Given the description of an element on the screen output the (x, y) to click on. 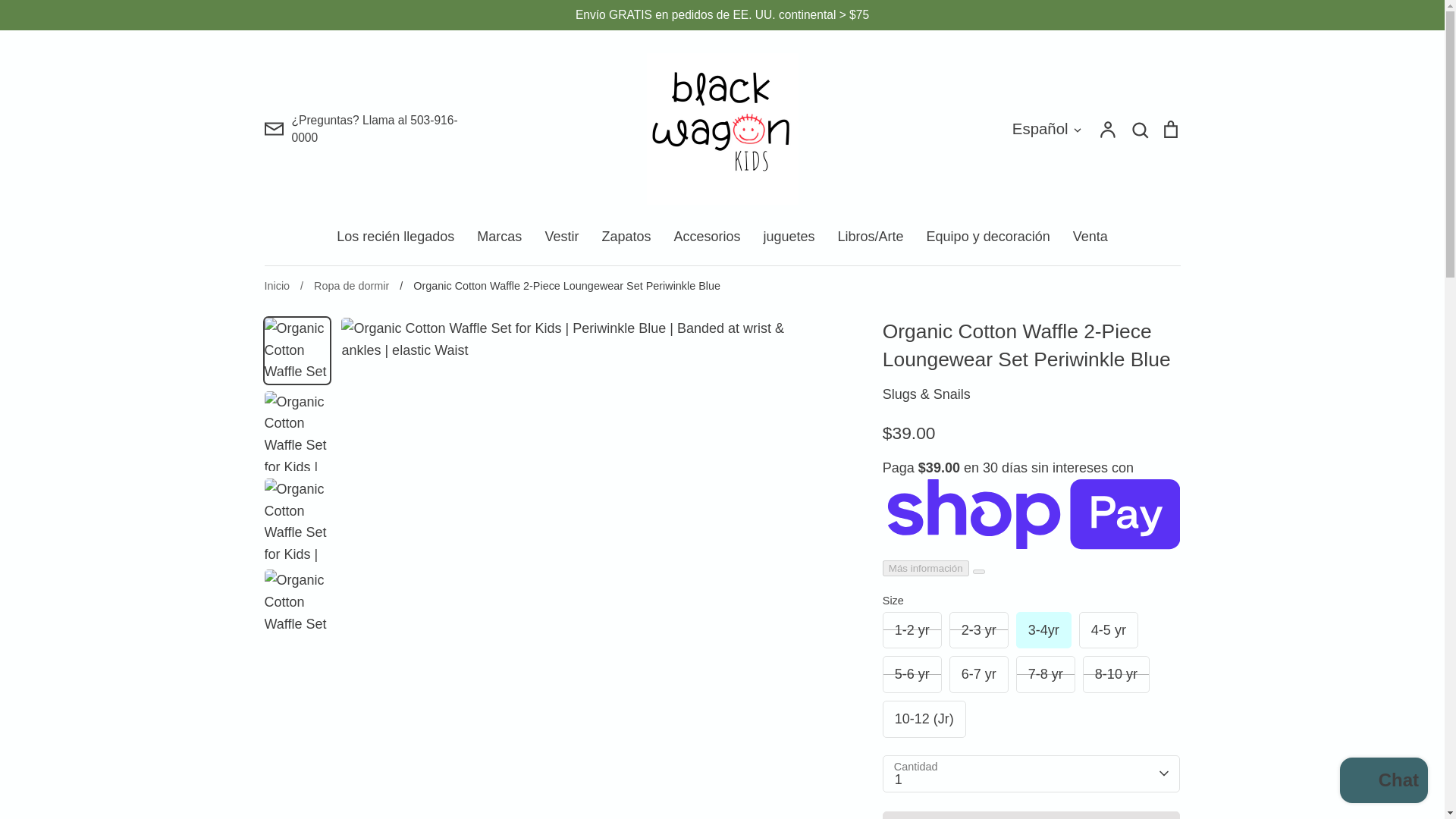
Cuenta (1107, 128)
Buscar (1139, 128)
Carrito (1169, 128)
Chat de la tienda online Shopify (1383, 781)
Marcas (499, 236)
